Given the description of an element on the screen output the (x, y) to click on. 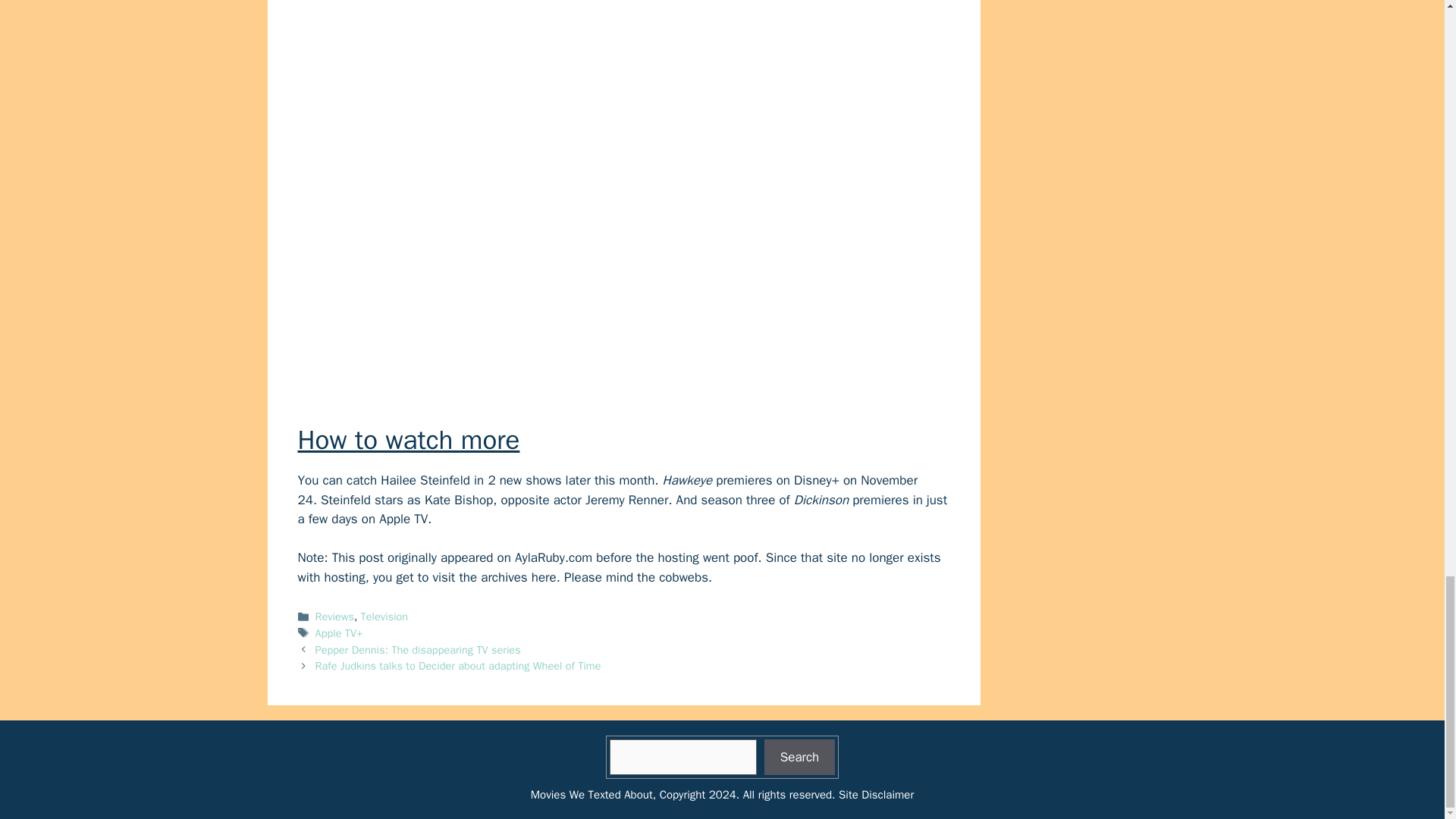
Rafe Judkins talks to Decider about adapting Wheel of Time (458, 665)
Reviews (334, 616)
Pepper Dennis: The disappearing TV series (418, 649)
Television (385, 616)
